Given the description of an element on the screen output the (x, y) to click on. 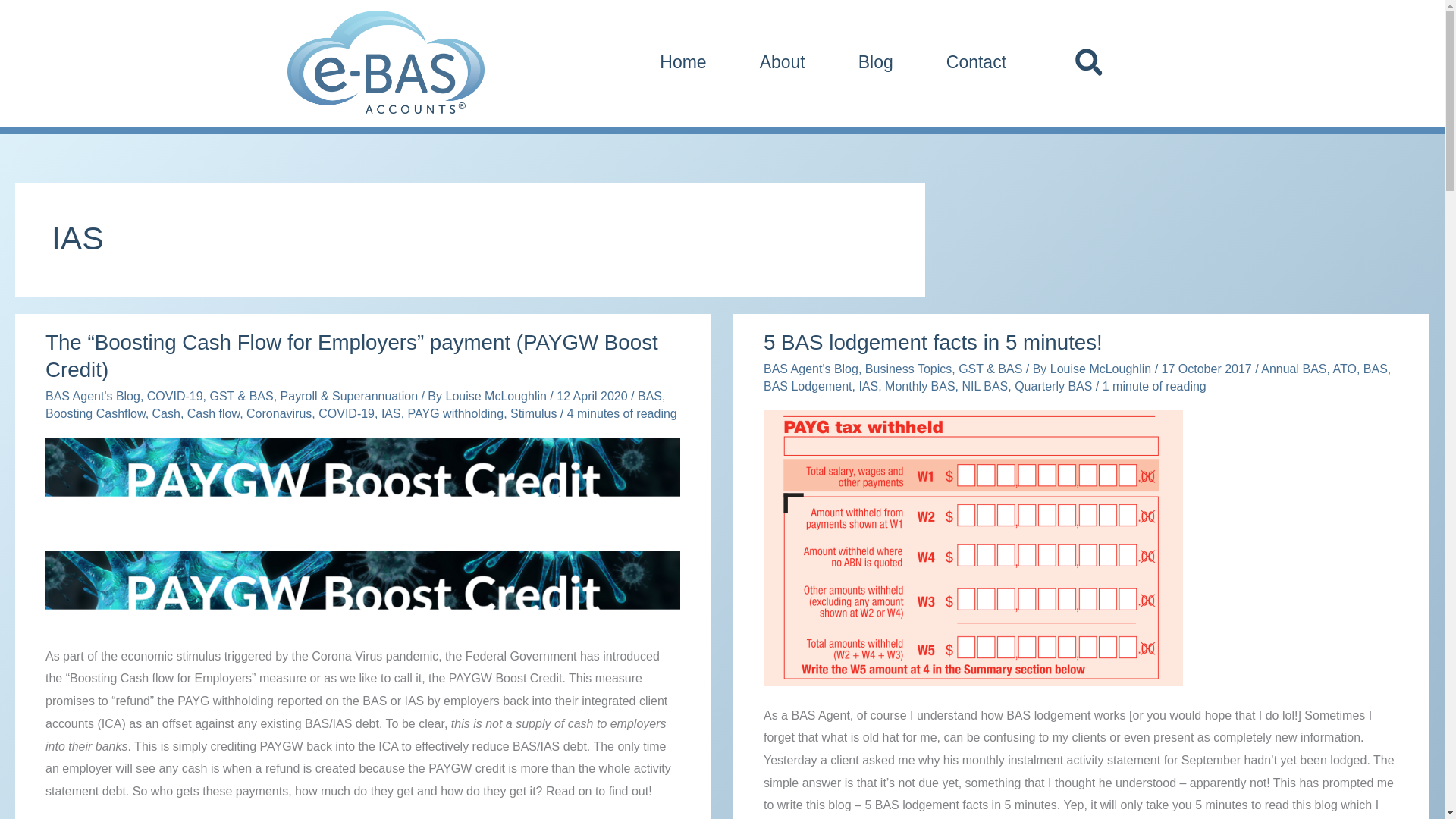
Blog (875, 61)
COVID-19 (175, 395)
Cash flow (213, 413)
Stimulus (533, 413)
PAYG withholding (455, 413)
Home (682, 61)
About (782, 61)
COVID-19 (346, 413)
Boosting Cashflow (95, 413)
Business Topics (908, 368)
Louise McLoughlin (497, 395)
View all posts by Louise McLoughlin (497, 395)
BAS (649, 395)
BAS Agent's Blog (92, 395)
Contact (976, 61)
